Given the description of an element on the screen output the (x, y) to click on. 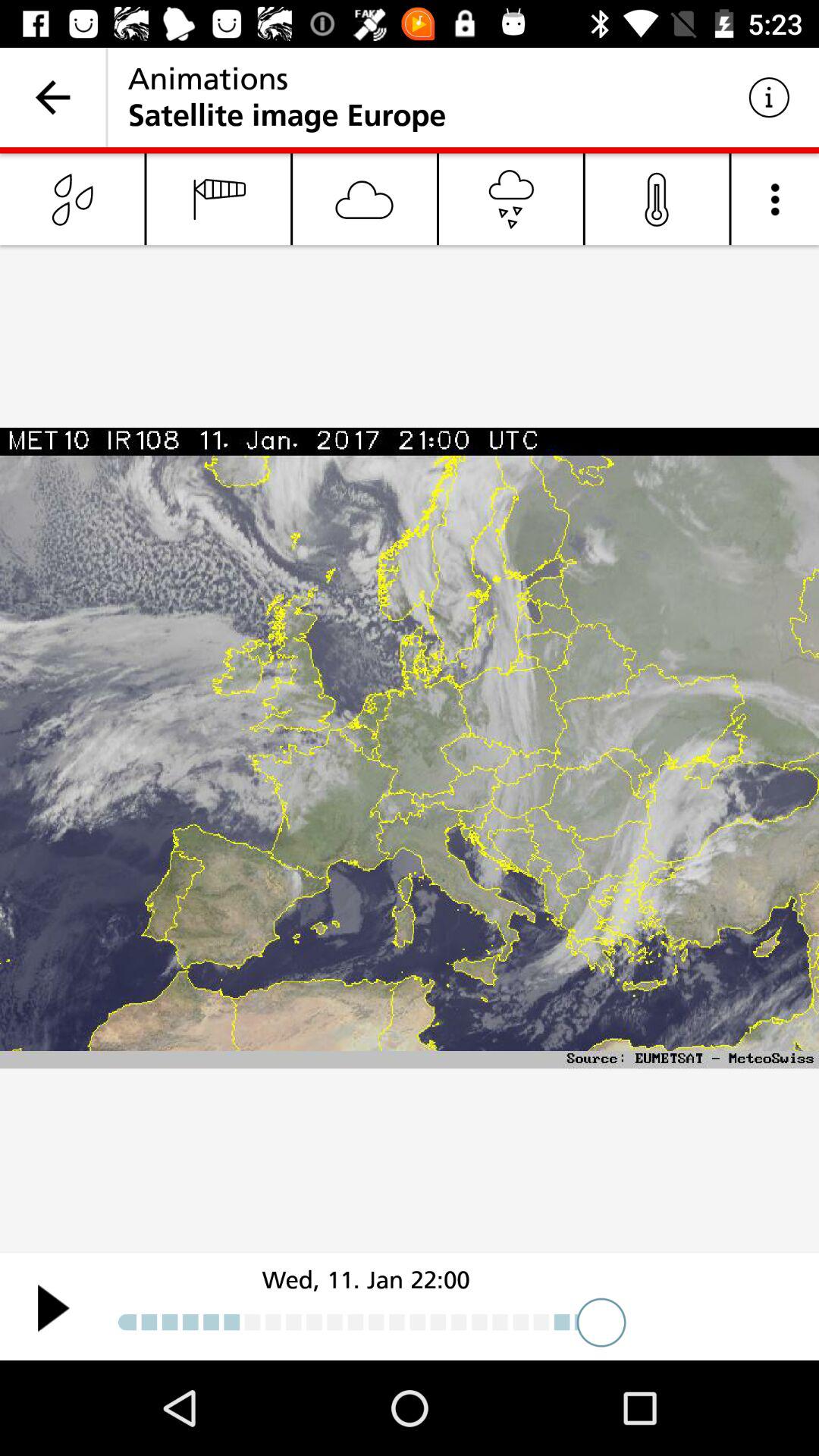
play weather pattern (53, 1307)
